Given the description of an element on the screen output the (x, y) to click on. 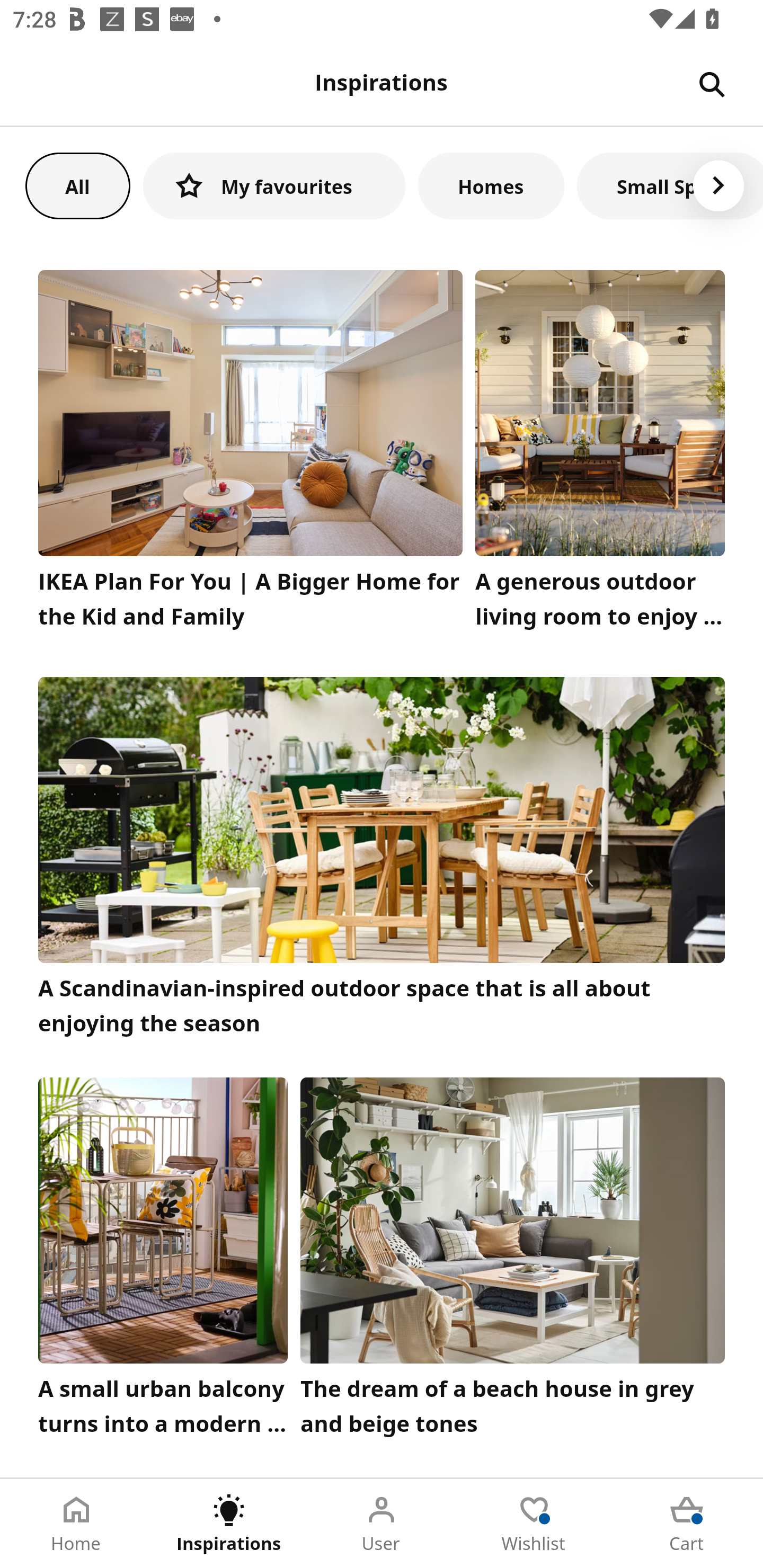
All (77, 185)
My favourites (274, 185)
Homes (491, 185)
The dream of a beach house in grey and beige tones (512, 1261)
Home
Tab 1 of 5 (76, 1522)
Inspirations
Tab 2 of 5 (228, 1522)
User
Tab 3 of 5 (381, 1522)
Wishlist
Tab 4 of 5 (533, 1522)
Cart
Tab 5 of 5 (686, 1522)
